Given the description of an element on the screen output the (x, y) to click on. 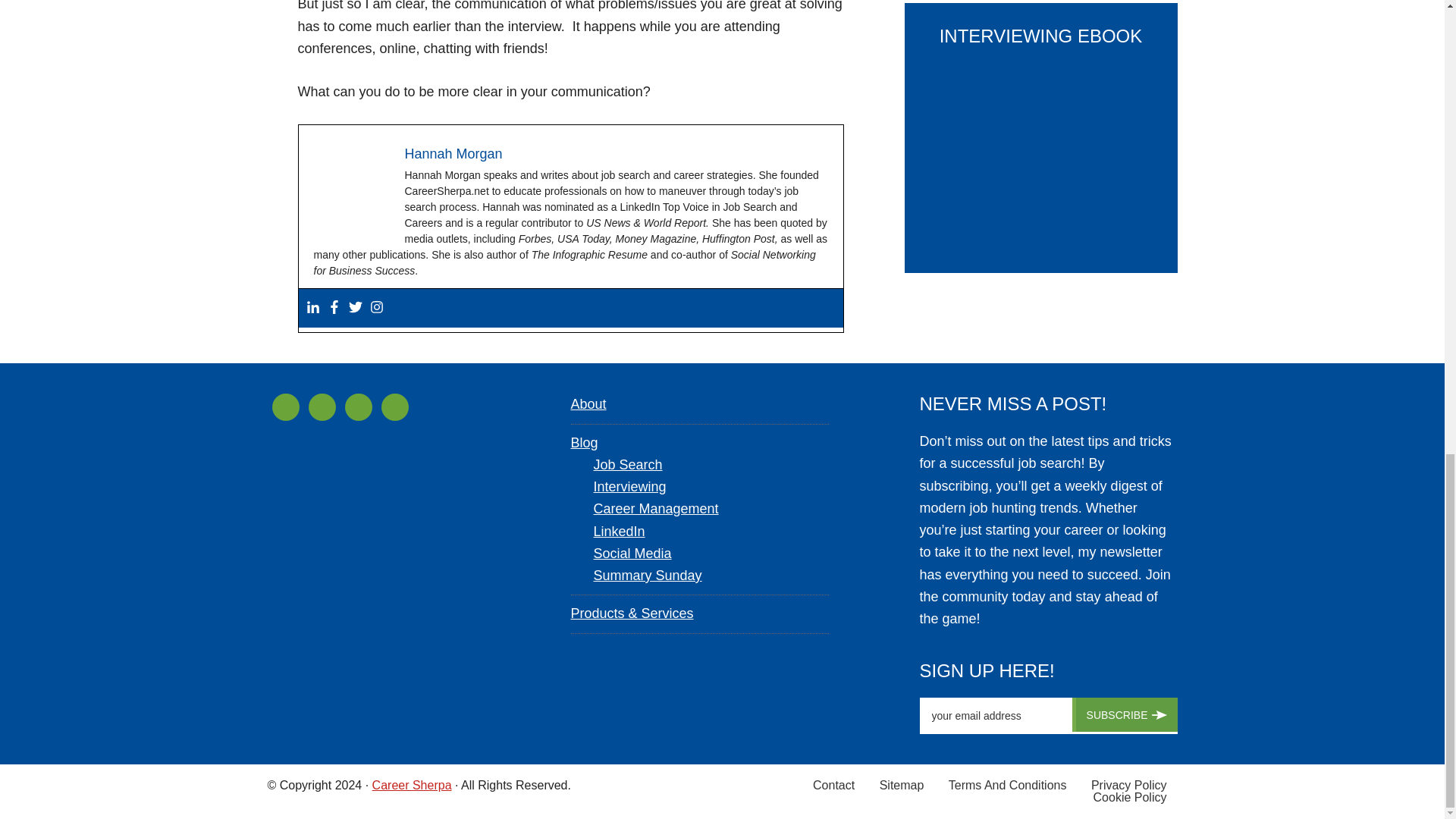
SUBSCRIBE (1124, 714)
Career Sherpa (411, 784)
Hannah Morgan (453, 153)
